Given the description of an element on the screen output the (x, y) to click on. 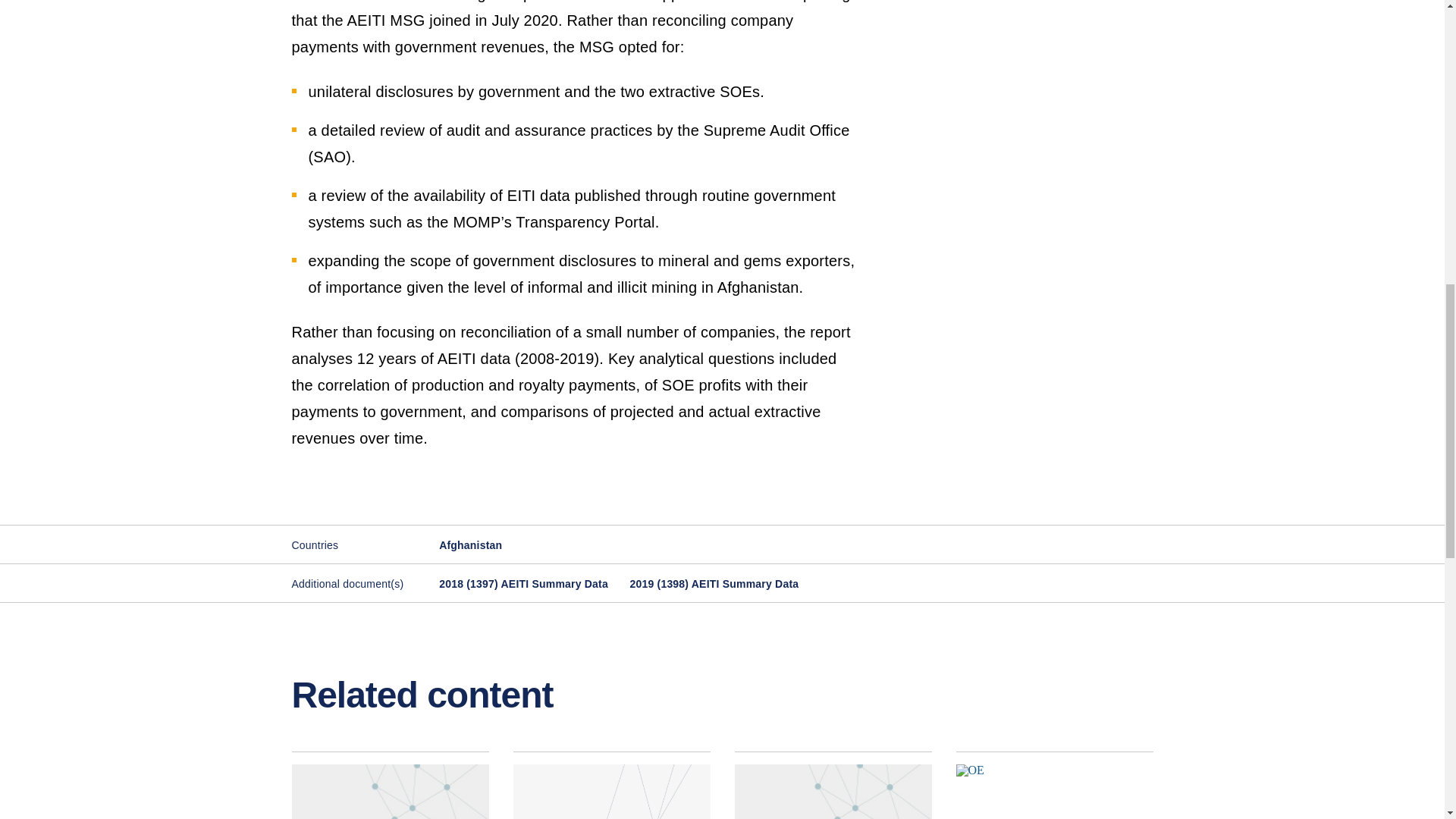
Dominican Republic 2021-2022 EITI Report  (389, 785)
Lessons for an accountable transition (1054, 785)
Niger 2021 EITI Report (832, 785)
Mali Targeted Assessment report 2023  (611, 785)
